Given the description of an element on the screen output the (x, y) to click on. 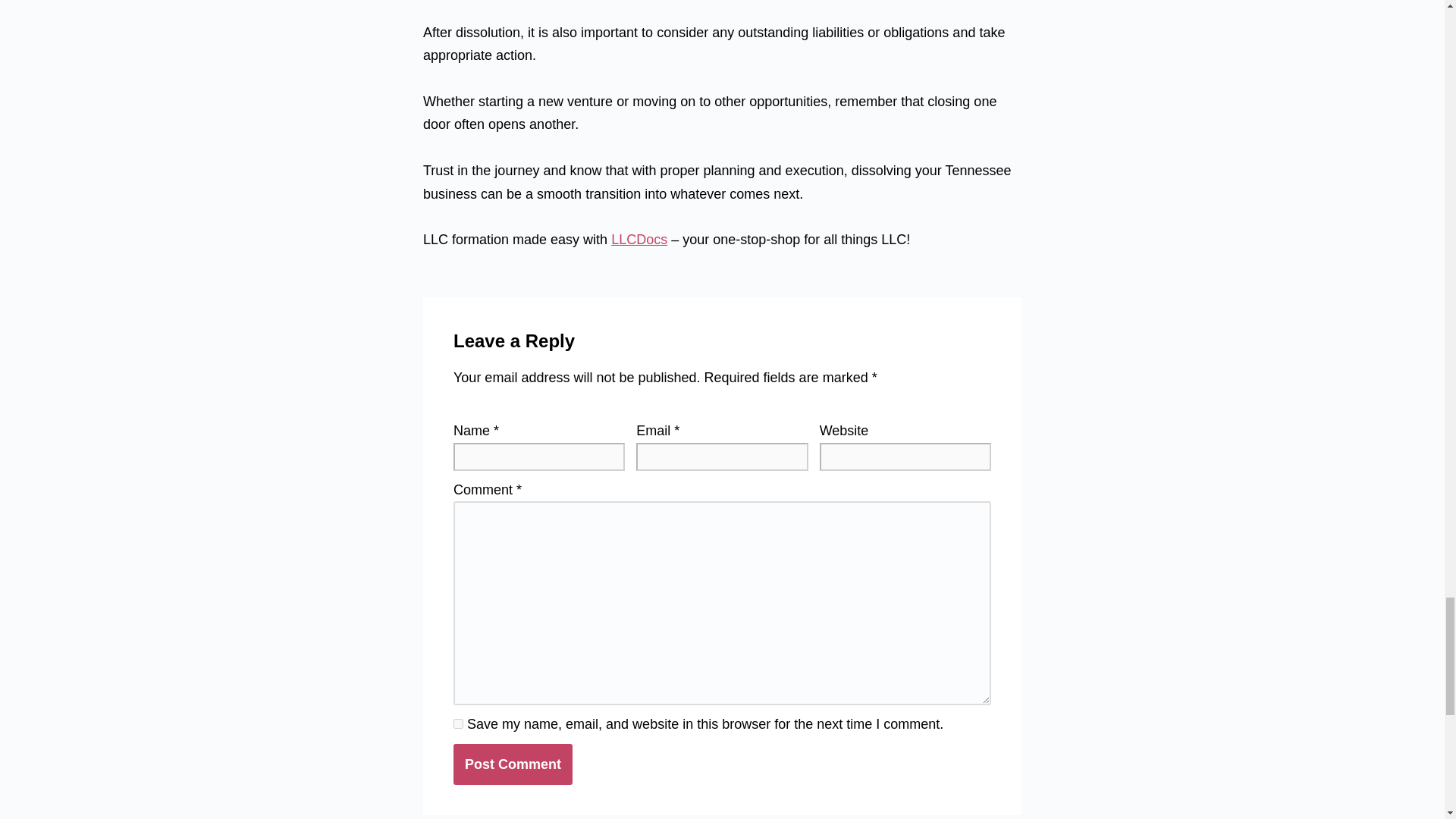
yes (457, 723)
Post Comment (512, 764)
LLCDocs (638, 239)
LLCDocs (638, 239)
Post Comment (512, 764)
